Given the description of an element on the screen output the (x, y) to click on. 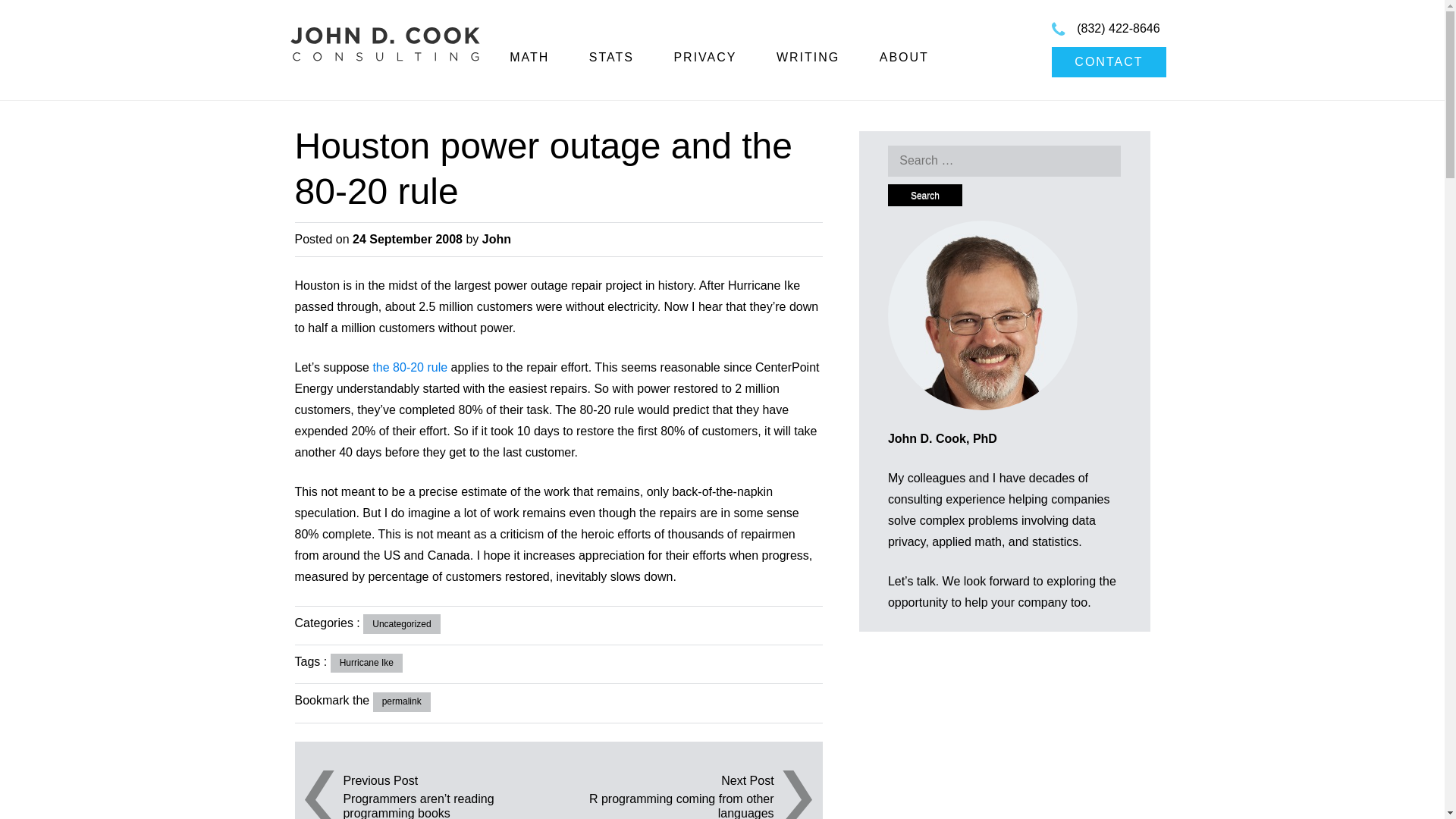
Search (925, 195)
STATS (611, 57)
the 80-20 rule (409, 367)
WRITING (807, 57)
PRIVACY (704, 57)
View all posts by John (496, 238)
08:39 (407, 238)
24 September 2008 (407, 238)
Search for: (1004, 160)
Hurricane Ike (366, 663)
